Given the description of an element on the screen output the (x, y) to click on. 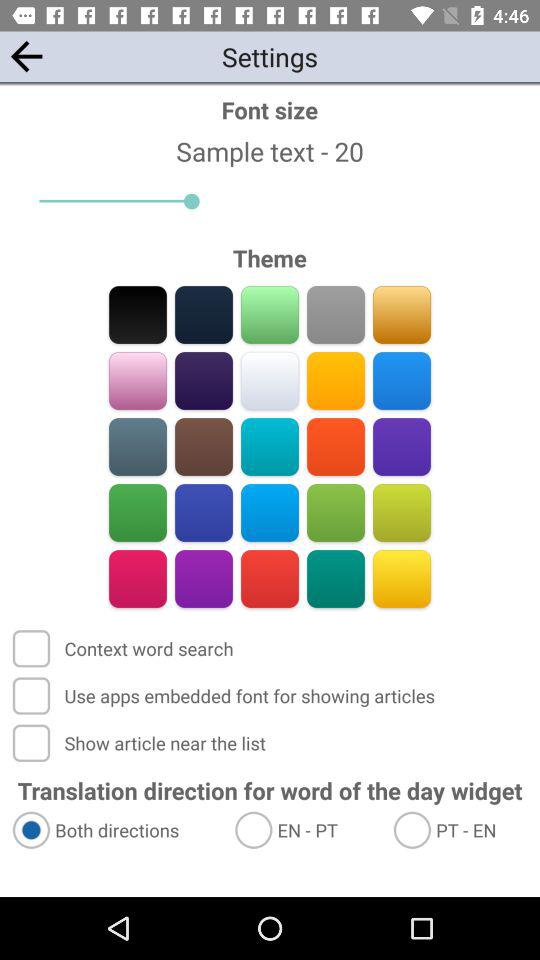
open radio button to the left of the en - pt (114, 829)
